Given the description of an element on the screen output the (x, y) to click on. 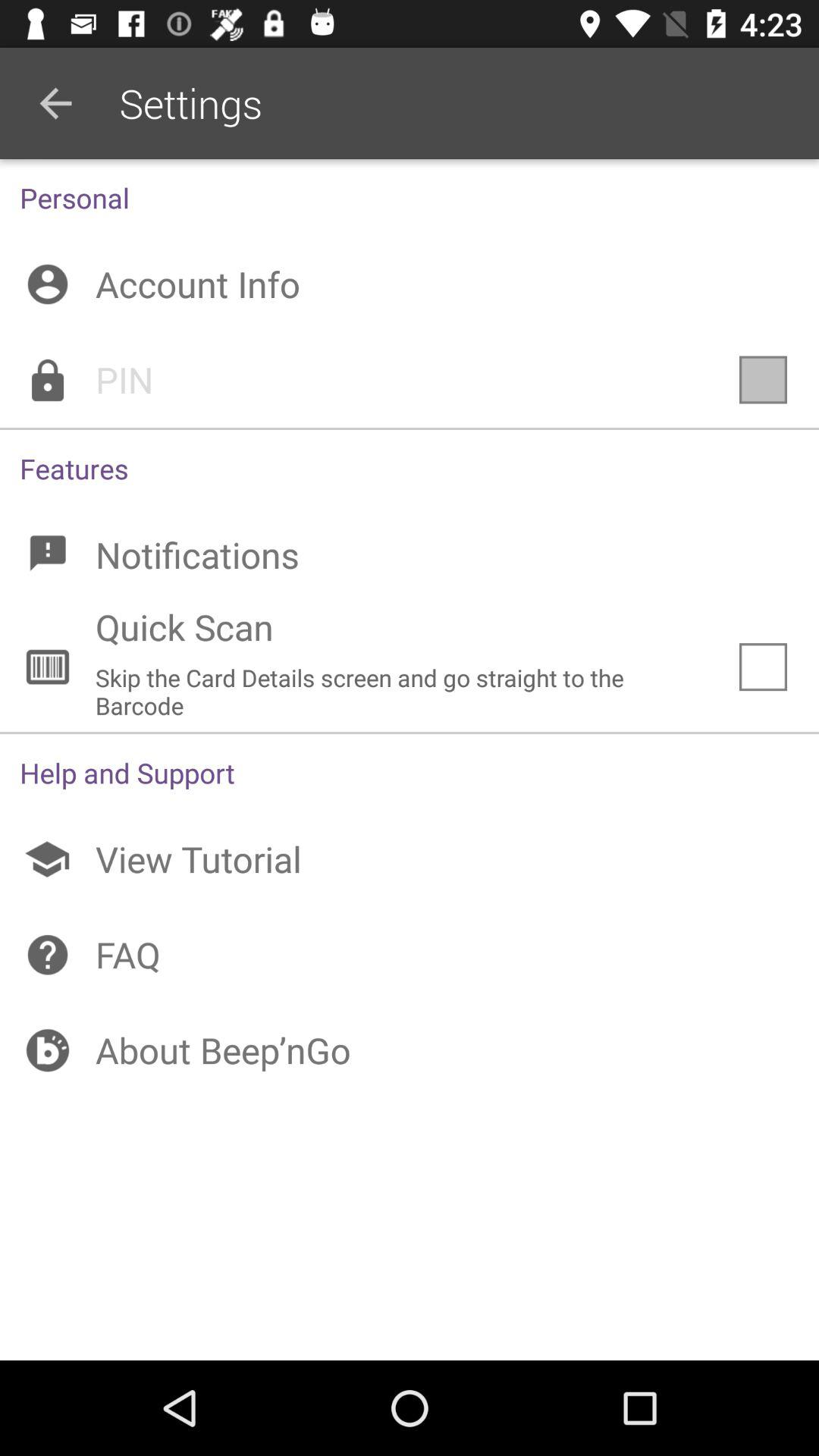
click the check box next to the quick scan (763, 666)
